Given the description of an element on the screen output the (x, y) to click on. 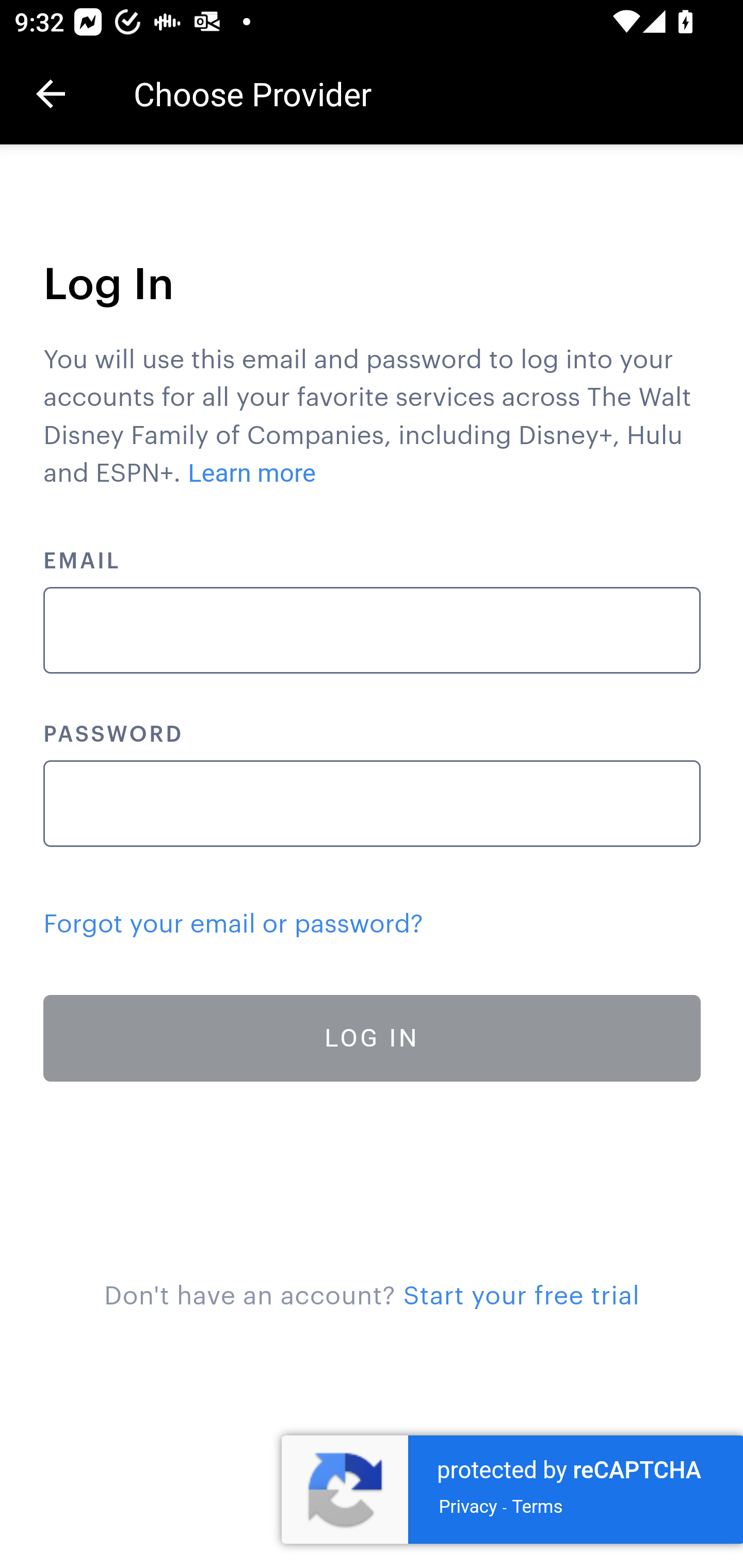
Navigate up (50, 93)
Learn more (252, 473)
Forgot your email or password? (233, 924)
LOG IN (372, 1037)
Start your free trial (521, 1295)
Privacy (468, 1505)
Terms (536, 1505)
